Given the description of an element on the screen output the (x, y) to click on. 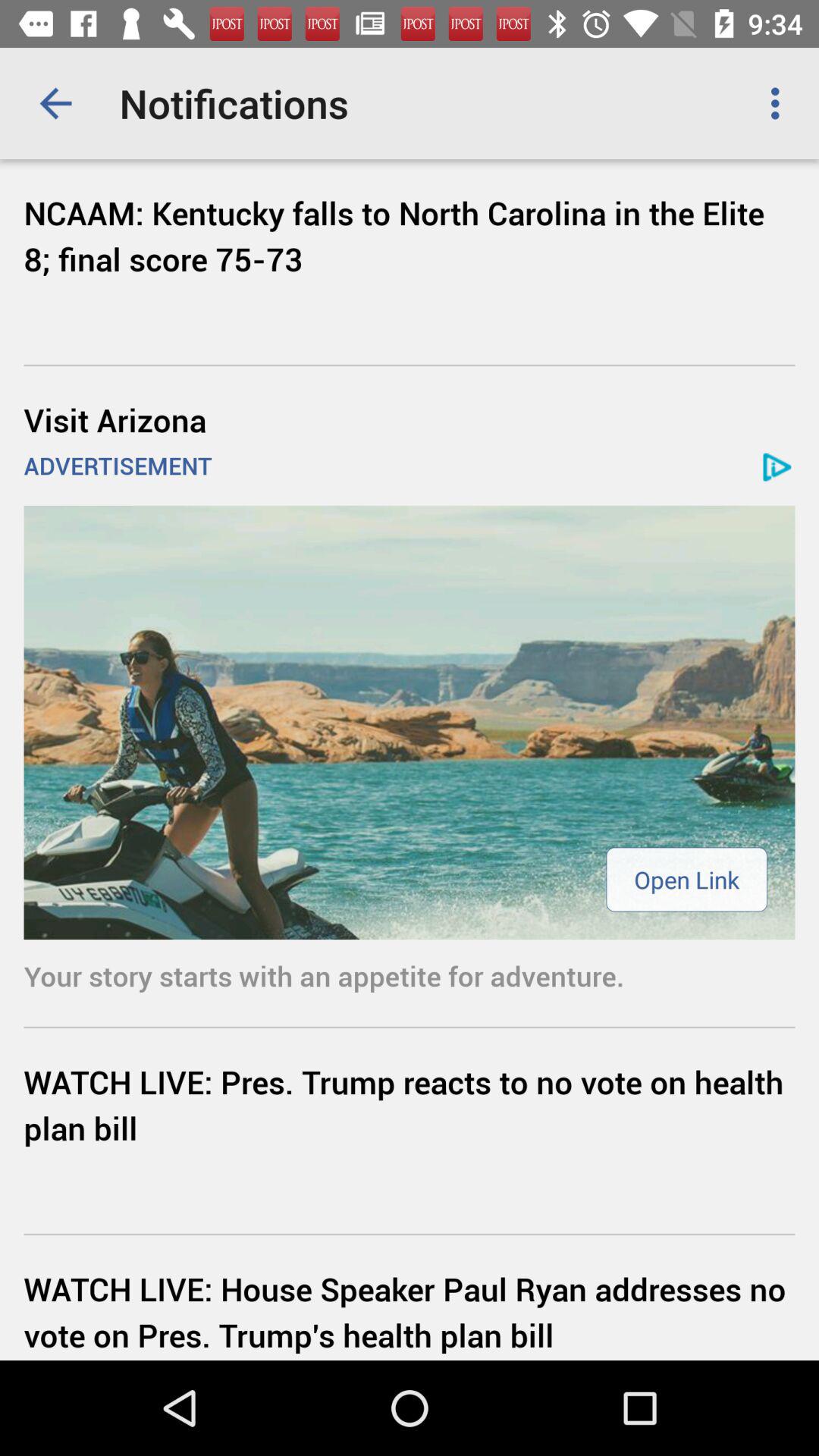
select icon at the center (409, 722)
